Given the description of an element on the screen output the (x, y) to click on. 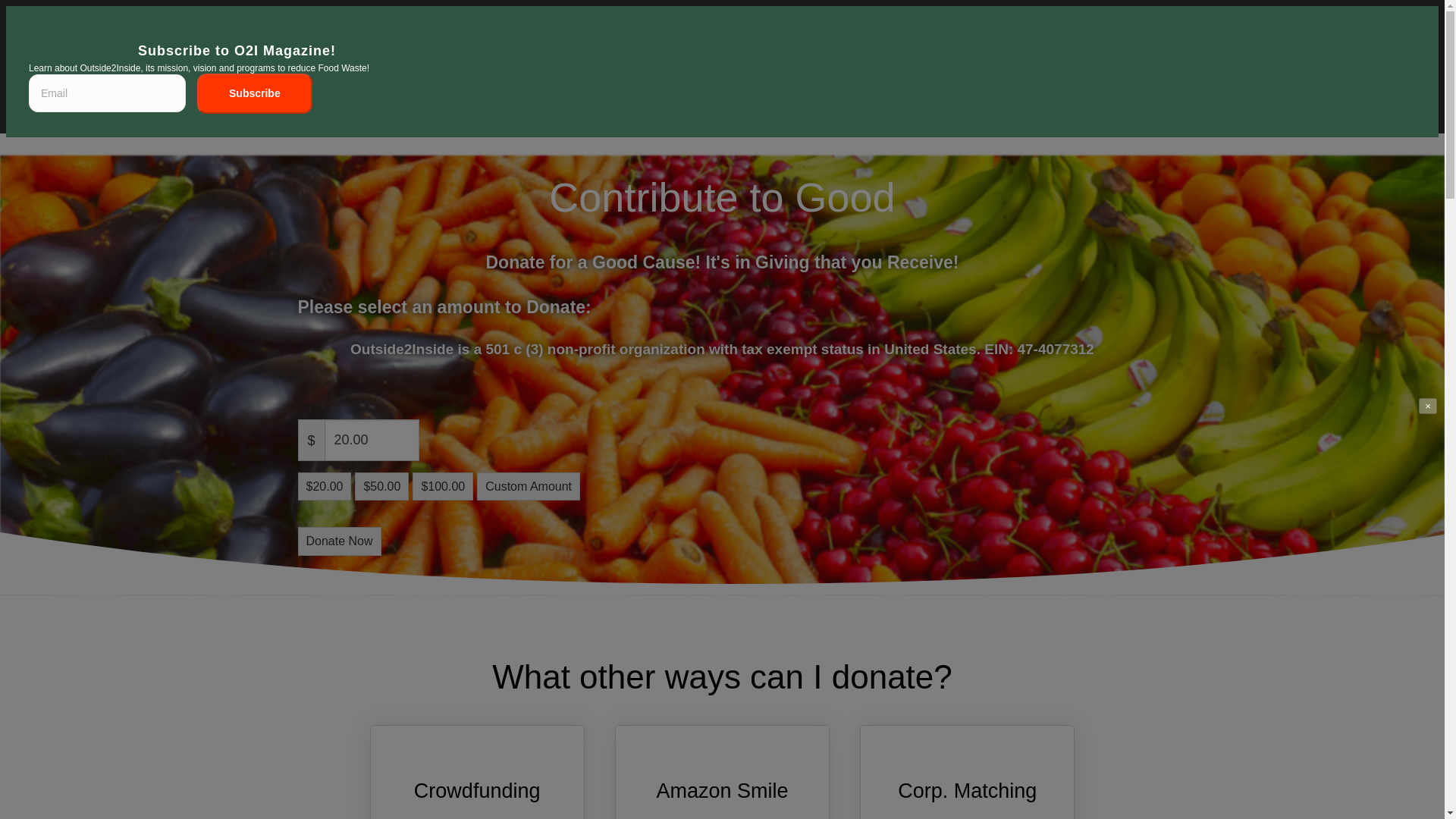
RECYCLE (666, 100)
RECOVER (587, 100)
Amazon Smile (721, 790)
PREVENT (507, 100)
CONTACT (1049, 100)
EVENTS (975, 100)
Custom Amount (528, 486)
Crowdfunding (476, 790)
OUR TEAM (898, 100)
VOLUNTEERS (804, 100)
Corp. Matching (967, 790)
20.00 (371, 440)
SUV (729, 100)
Donate Now (338, 541)
ABOUT US (426, 100)
